Given the description of an element on the screen output the (x, y) to click on. 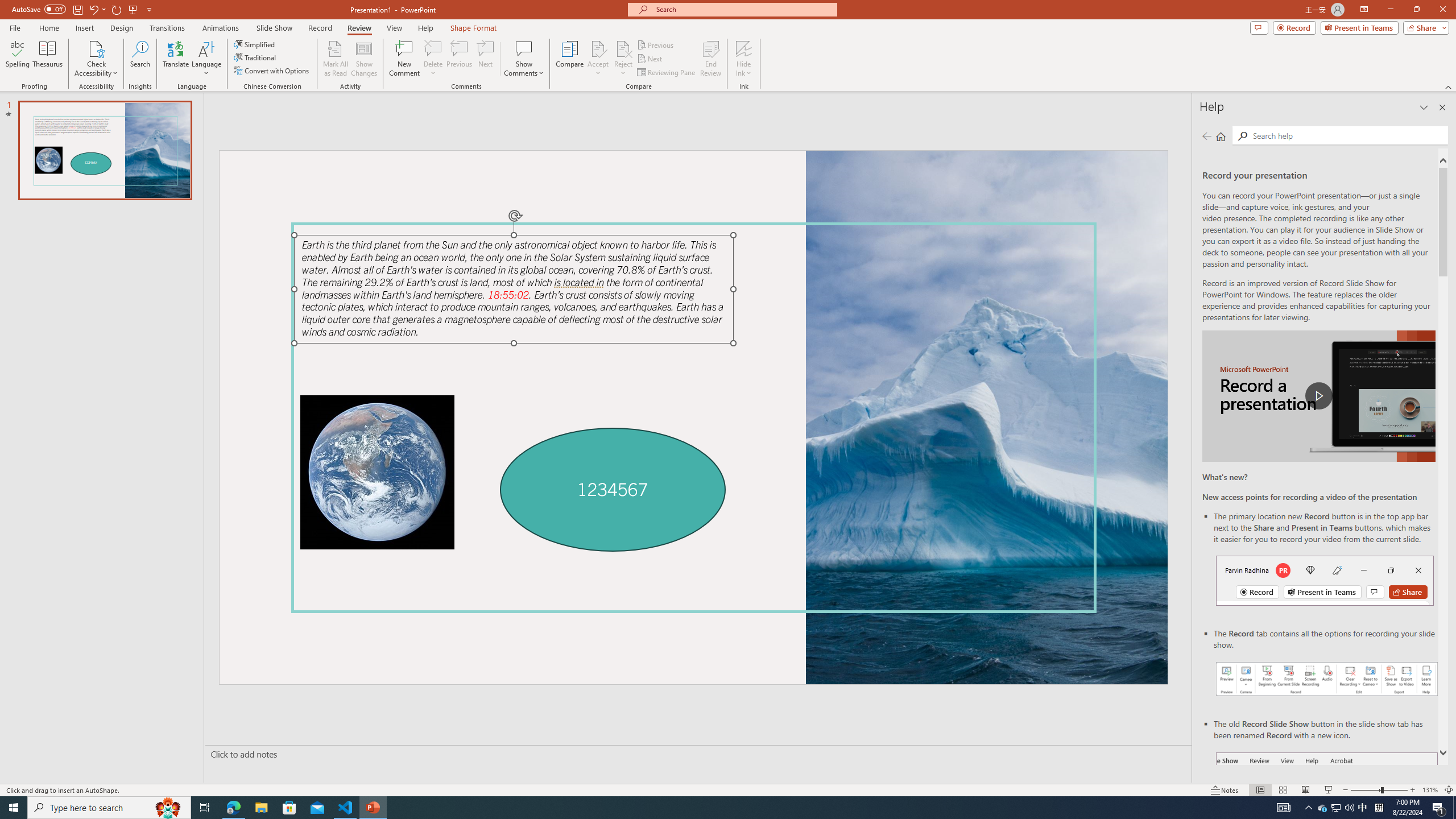
Thesaurus... (47, 58)
Record button in top bar (1324, 580)
Convert with Options... (272, 69)
New Comment (403, 58)
Reject Change (622, 48)
